Given the description of an element on the screen output the (x, y) to click on. 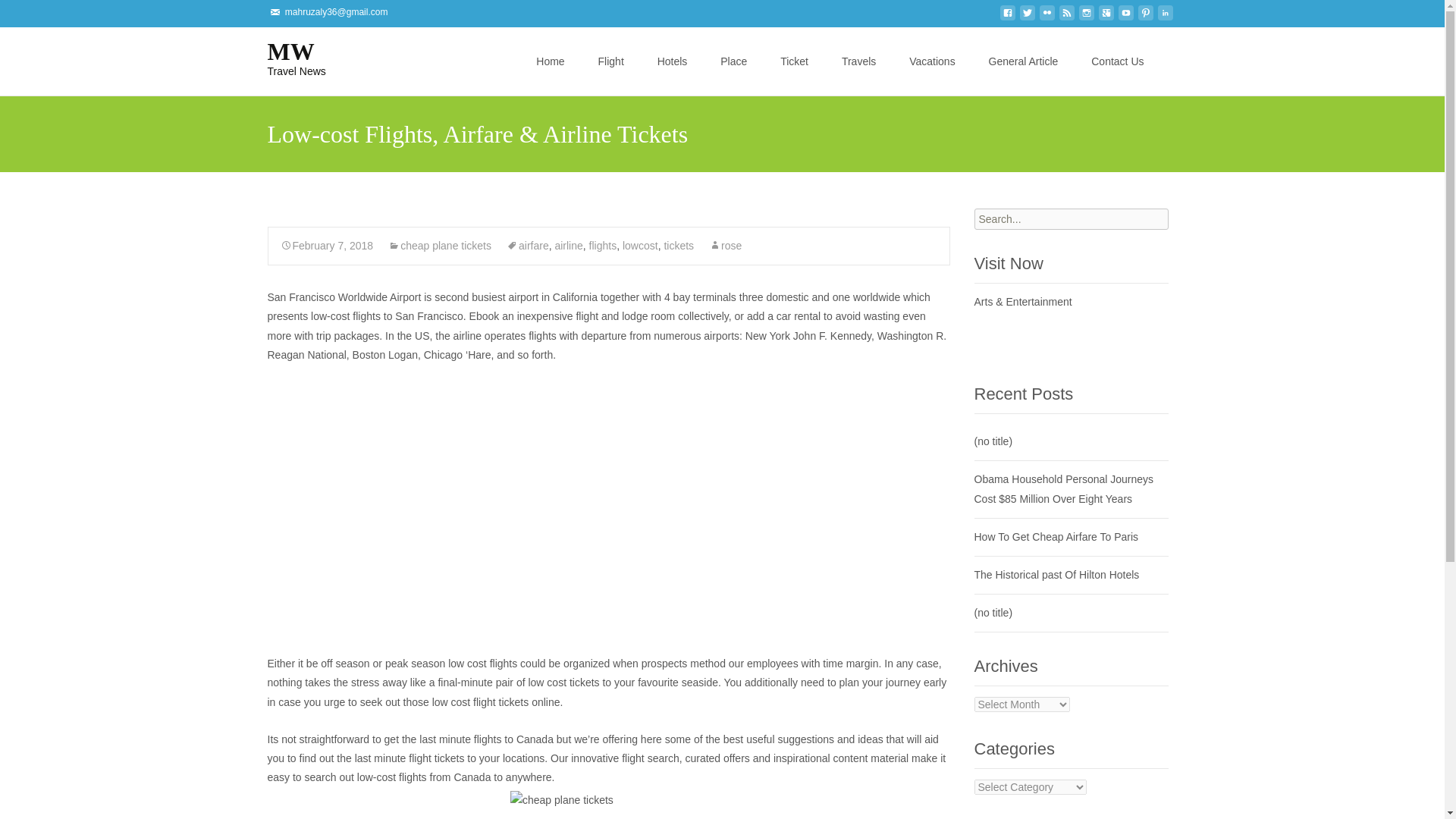
General Article (1023, 61)
twitter (1026, 17)
Search for: (283, 57)
linkedin (1070, 219)
flickr (1164, 17)
feed (1046, 17)
instagram (1066, 17)
youtube (1085, 17)
MW (1125, 17)
Search for: (283, 57)
googleplus (1163, 62)
facebook (1105, 17)
pinterest (1006, 17)
Skip to content (1145, 17)
